Given the description of an element on the screen output the (x, y) to click on. 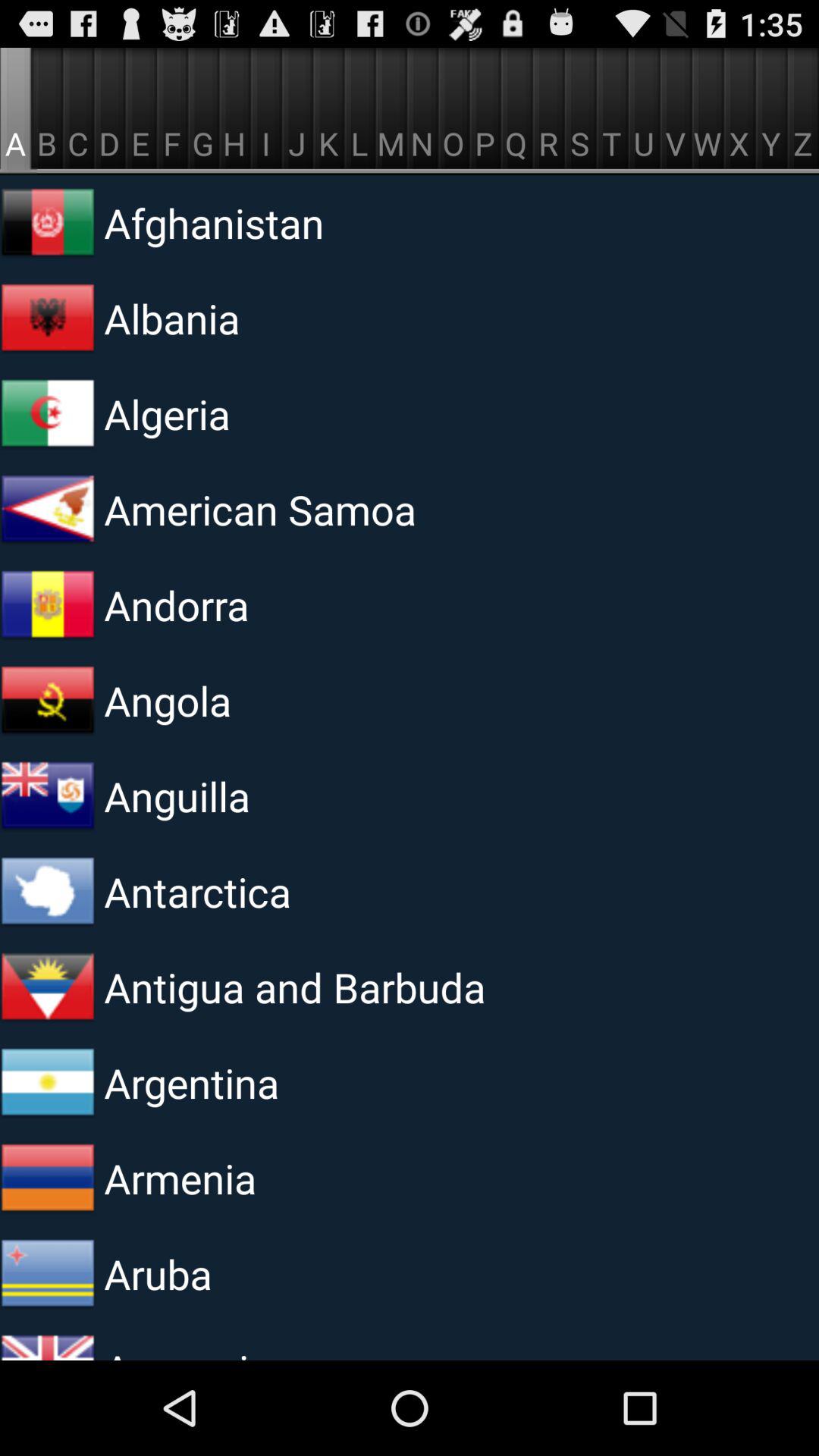
launch armenia item (290, 1177)
